Given the description of an element on the screen output the (x, y) to click on. 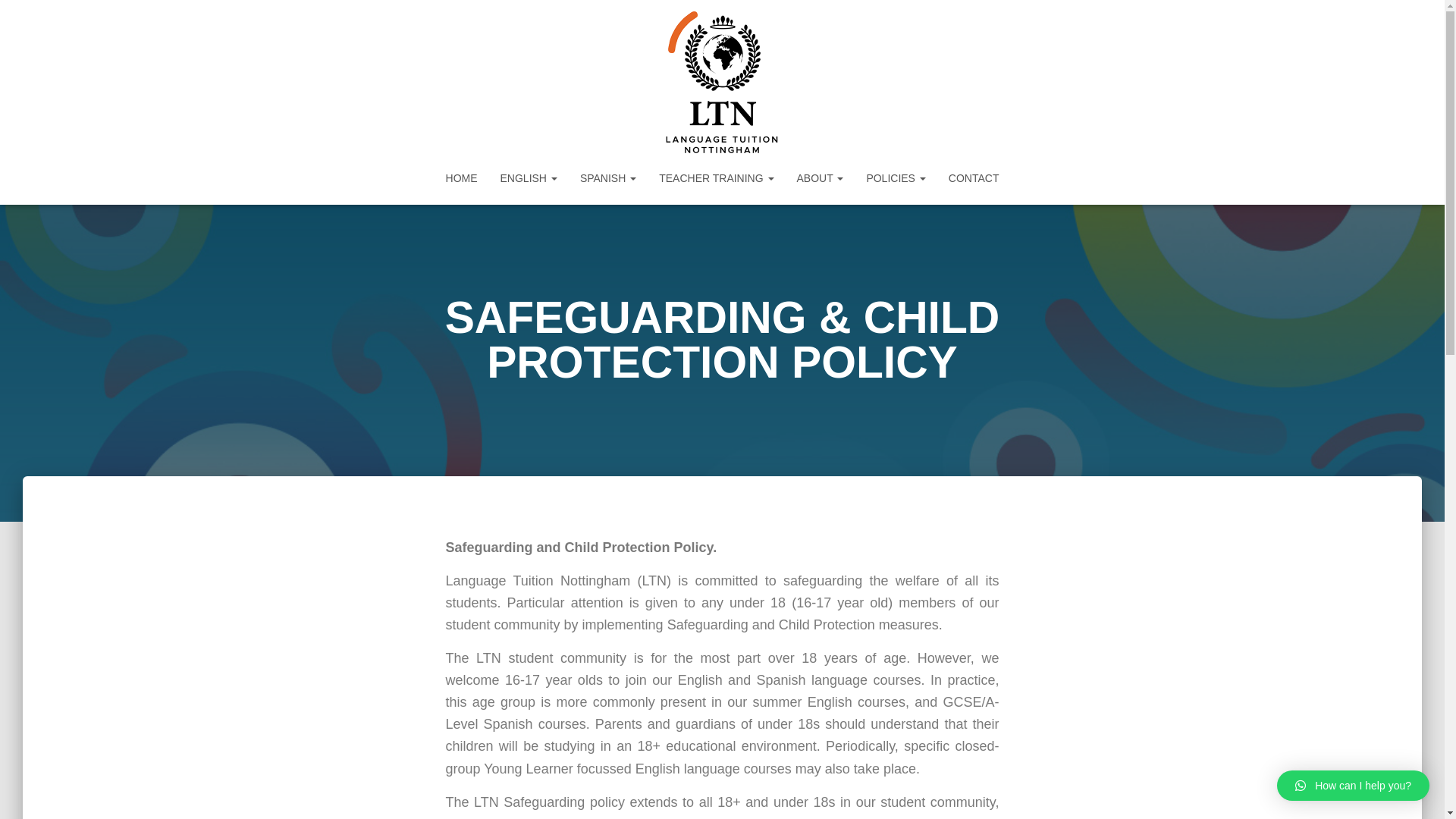
ABOUT (821, 177)
ABOUT (821, 177)
Home (461, 177)
POLICIES (895, 177)
CONTACT (973, 177)
TEACHER TRAINING (715, 177)
SPANISH (608, 177)
HOME (461, 177)
TEACHER TRAINING (715, 177)
ENGLISH (529, 177)
ENGLISH (529, 177)
Language Tuition Nottingham (721, 82)
SPANISH (608, 177)
